Given the description of an element on the screen output the (x, y) to click on. 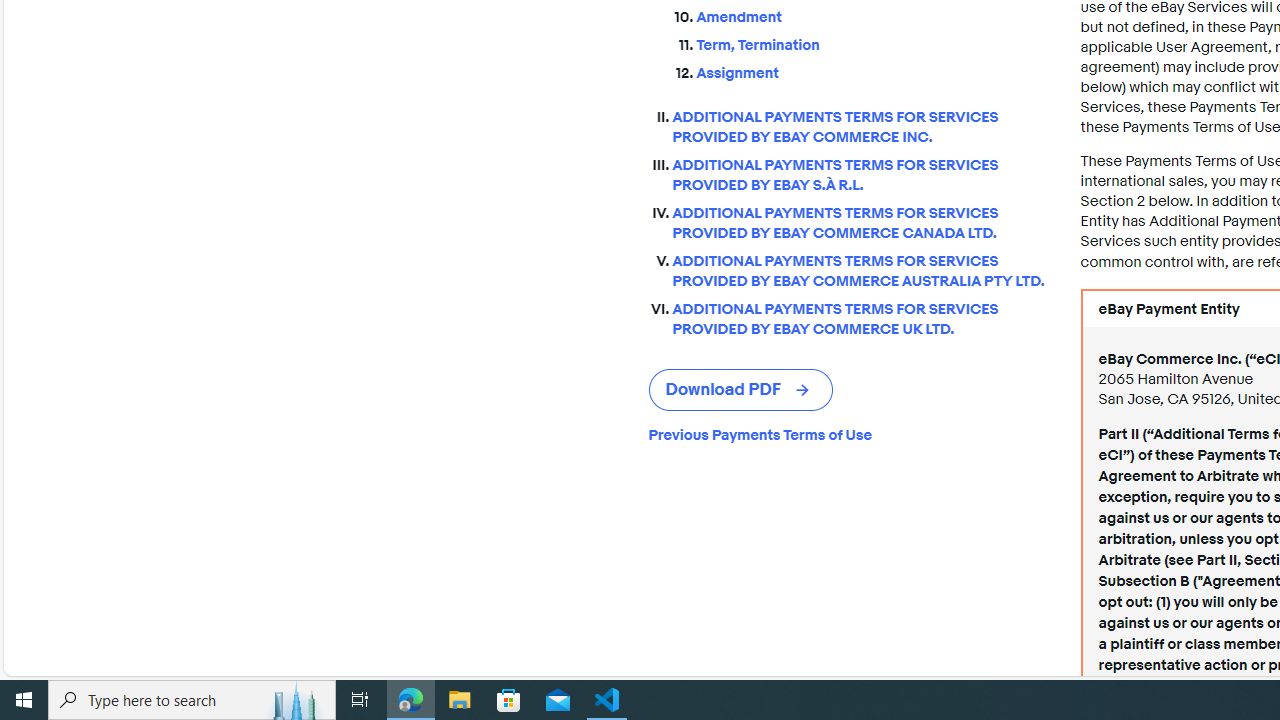
Assignment (872, 73)
Assignment (872, 69)
Download PDF  (740, 389)
Term, Termination (872, 45)
Term, Termination (872, 41)
Previous Payments Terms of Use (848, 434)
Class: ski-btn__arrow (804, 390)
